Given the description of an element on the screen output the (x, y) to click on. 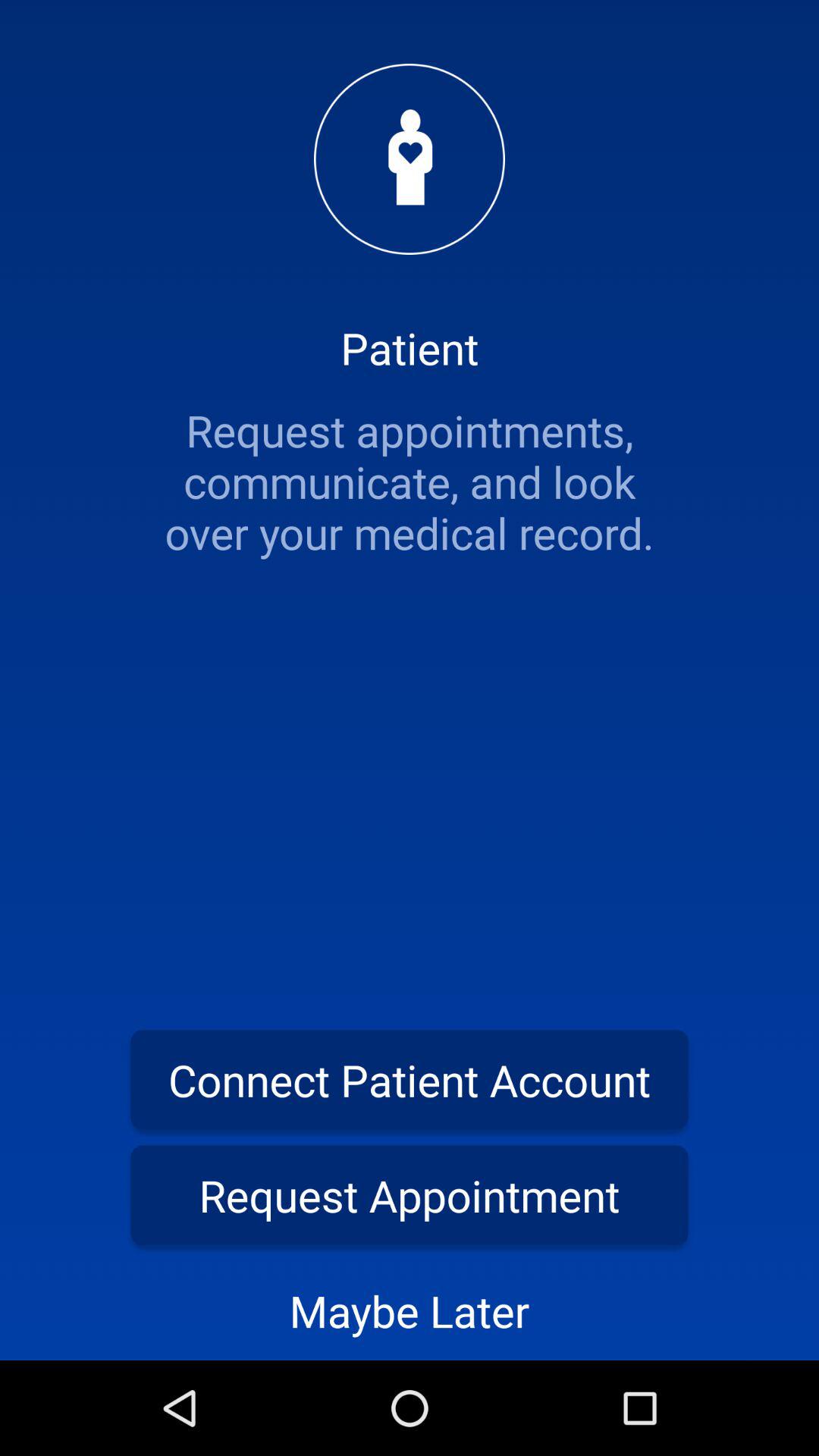
flip to the maybe later (409, 1310)
